Given the description of an element on the screen output the (x, y) to click on. 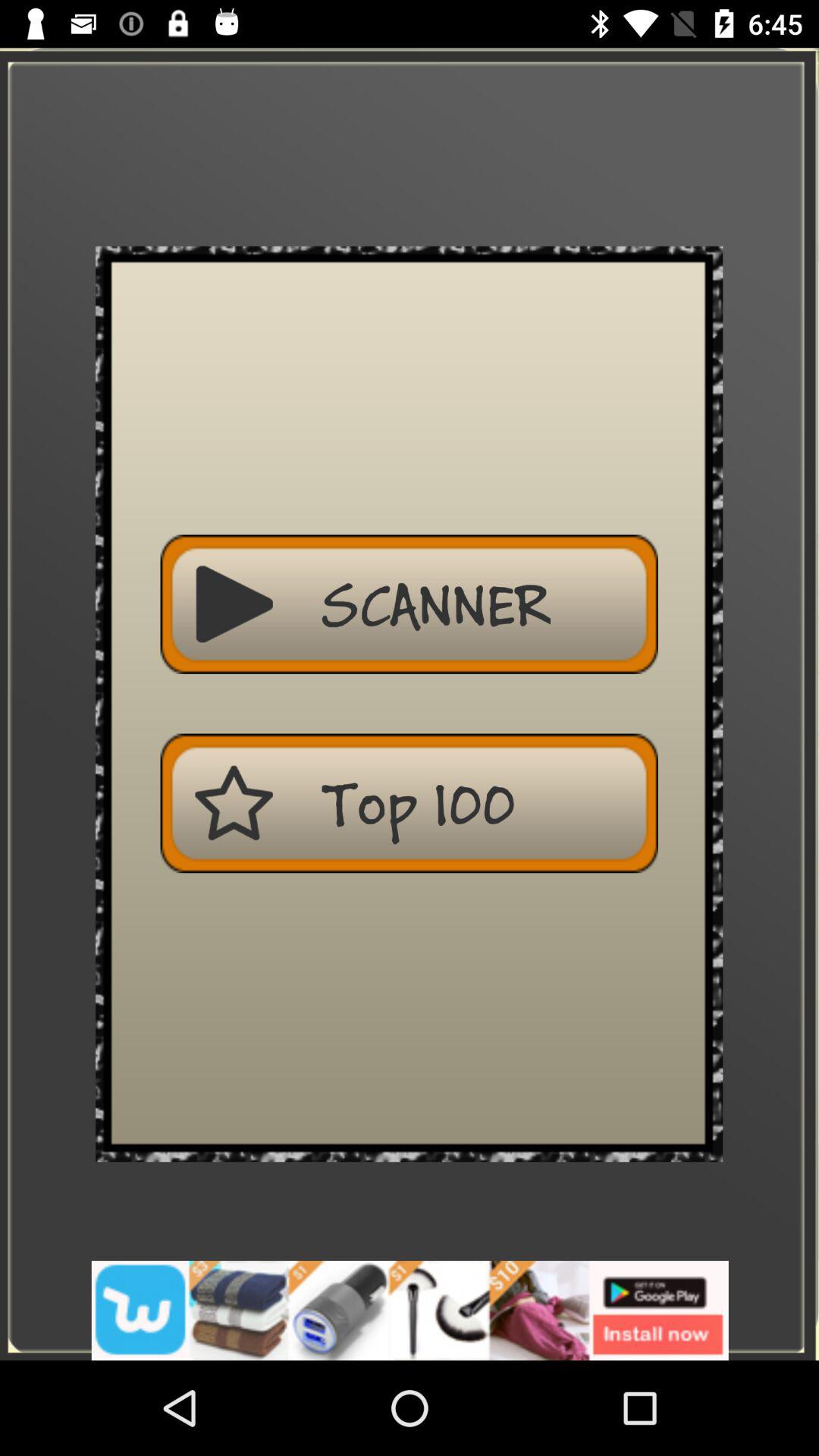
advertisement (409, 1310)
